Given the description of an element on the screen output the (x, y) to click on. 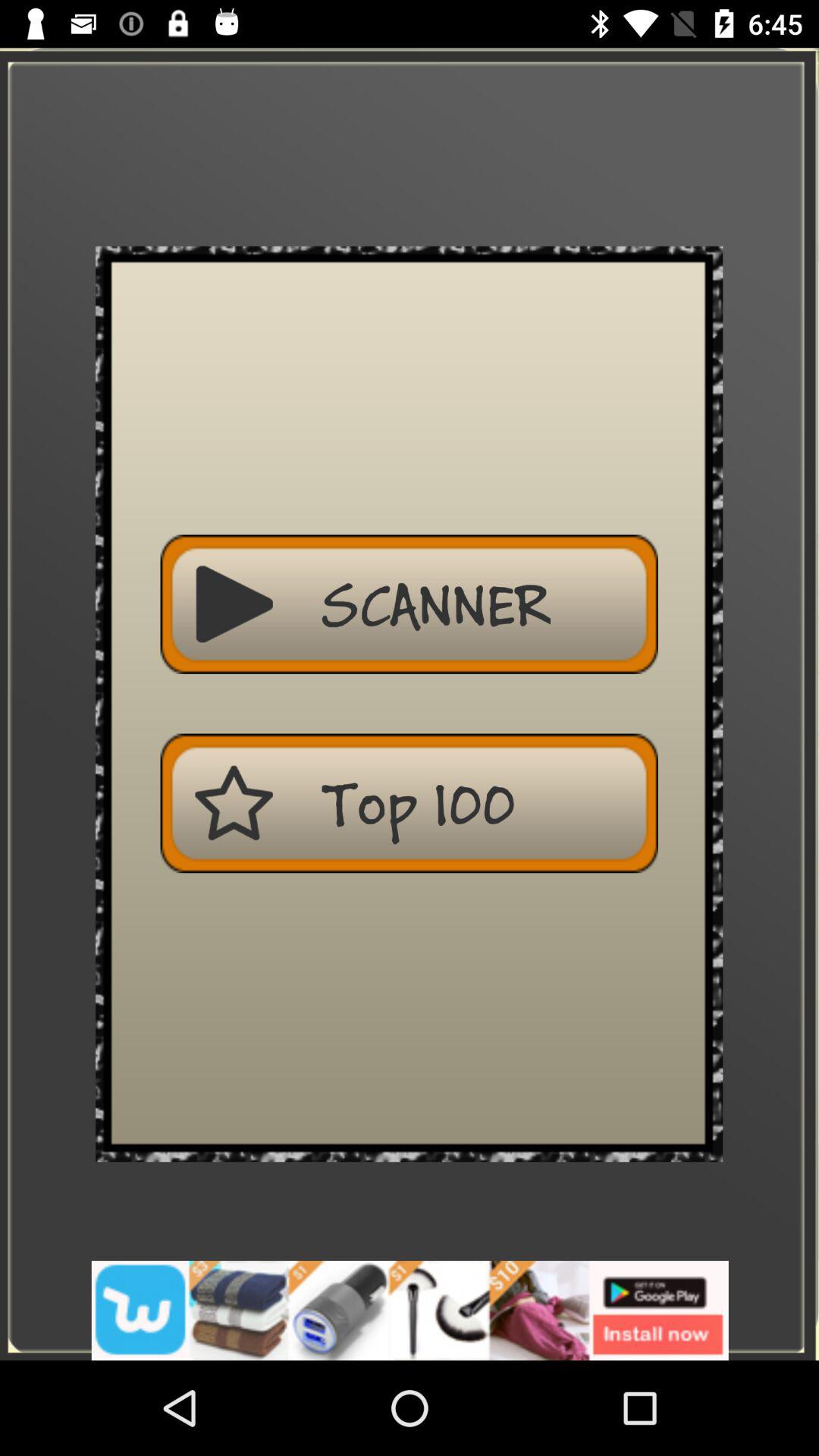
advertisement (409, 1310)
